Given the description of an element on the screen output the (x, y) to click on. 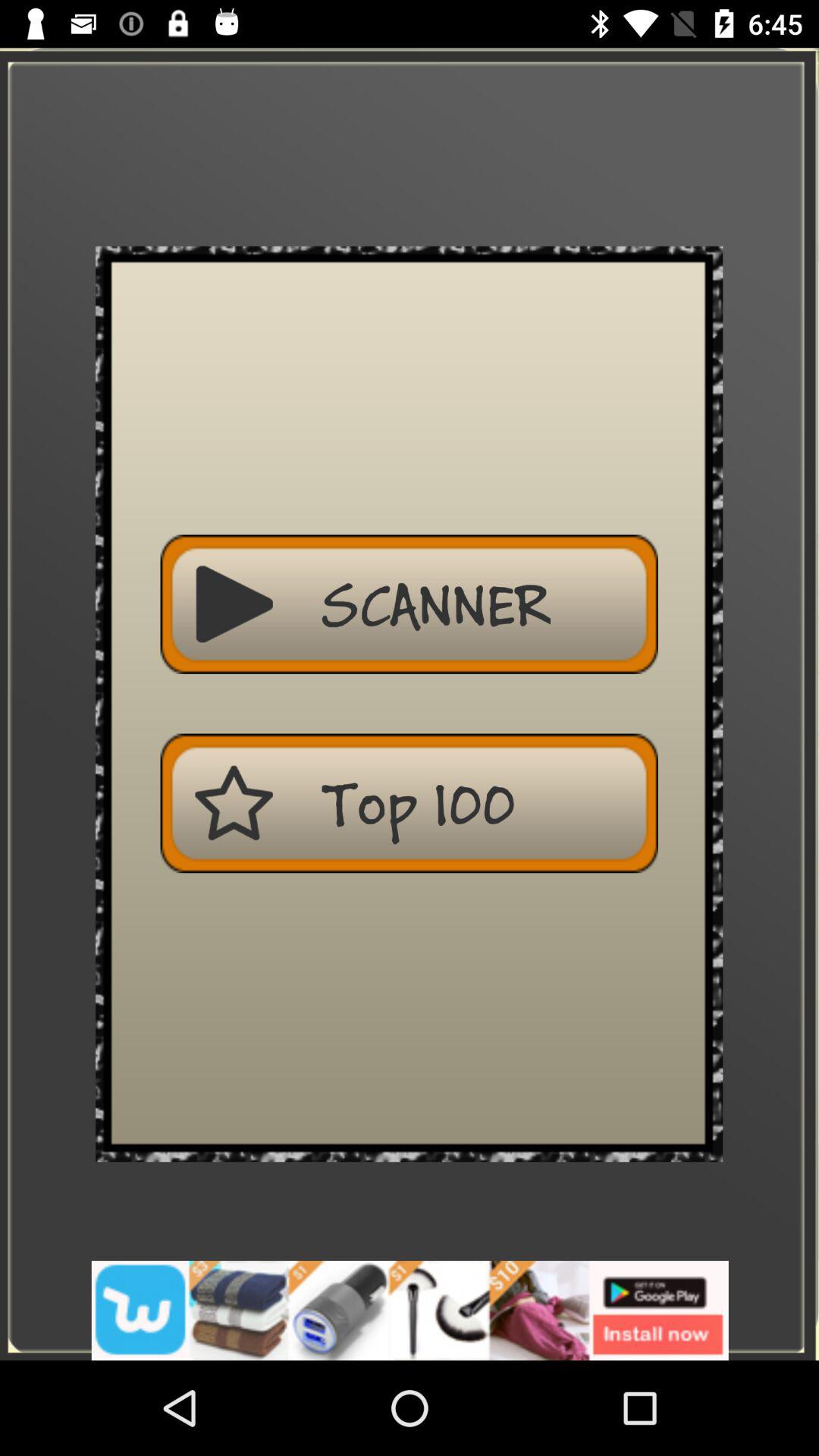
advertisement (409, 1310)
